Given the description of an element on the screen output the (x, y) to click on. 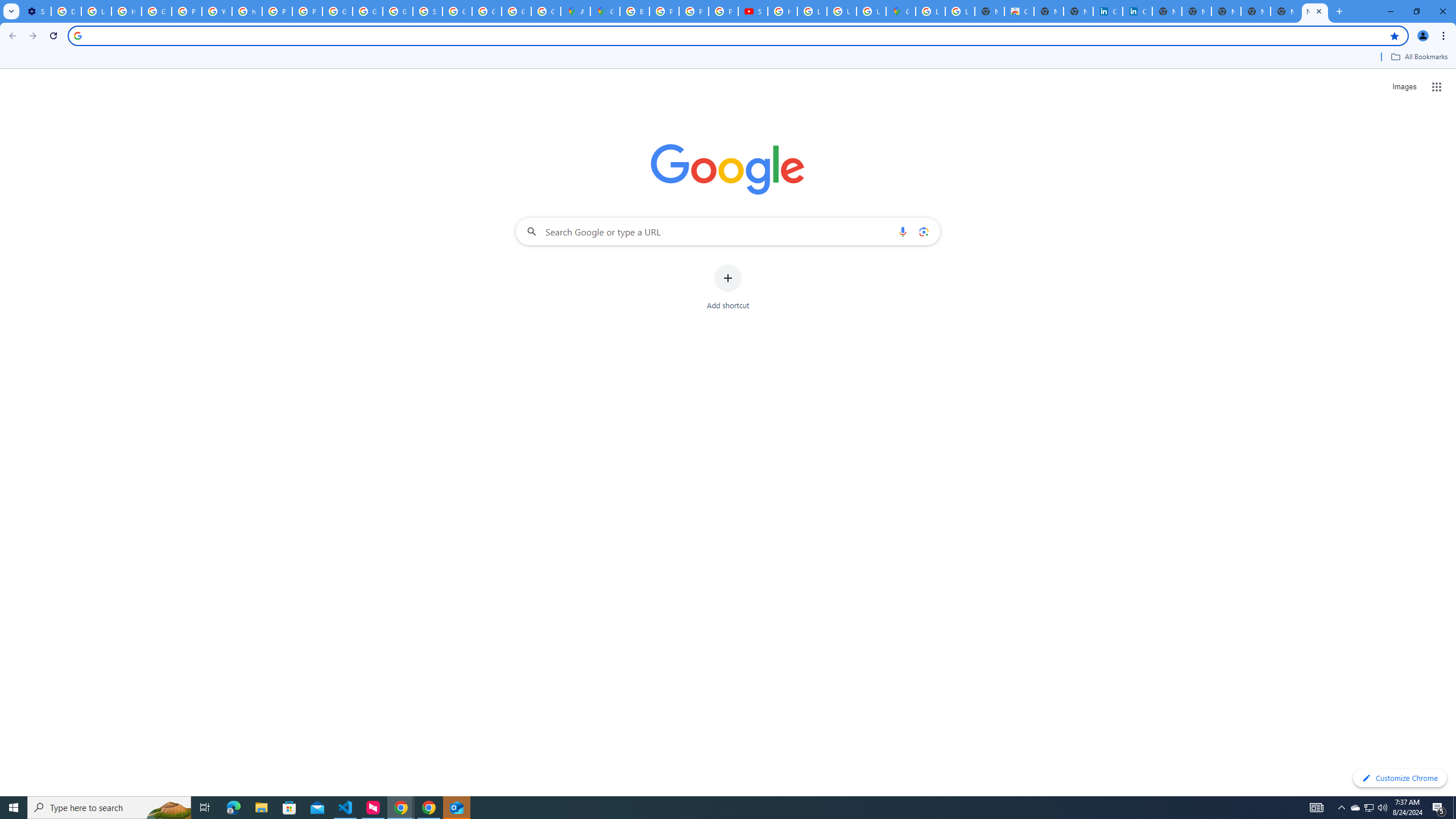
Settings - Customize profile (36, 11)
Customize Chrome (1399, 778)
Bookmarks (728, 58)
Blogger Policies and Guidelines - Transparency Center (634, 11)
Privacy Help Center - Policies Help (664, 11)
Google Maps (604, 11)
